Given the description of an element on the screen output the (x, y) to click on. 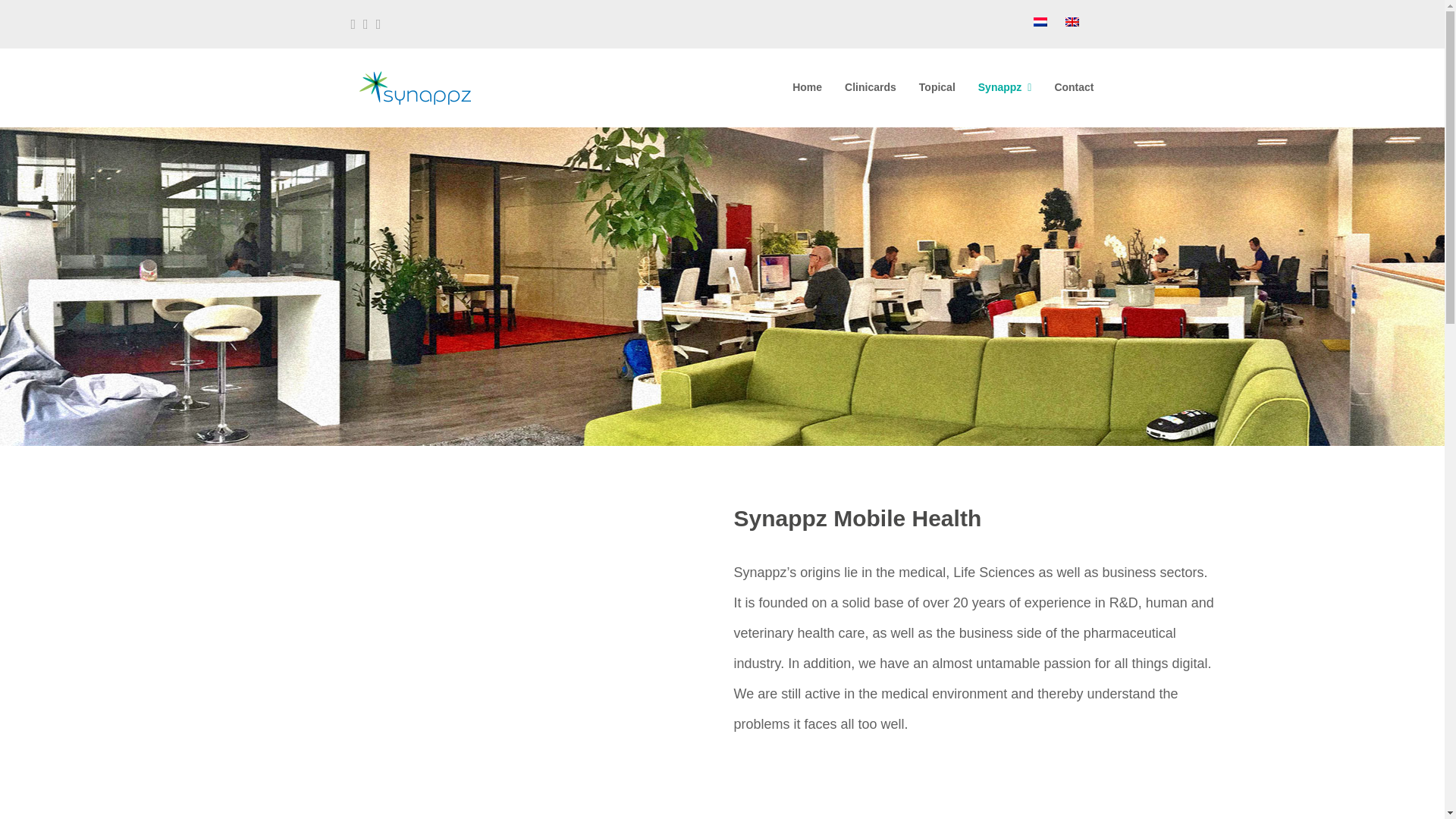
Clinicards (869, 87)
Home (806, 87)
LinkedIn (378, 23)
Topical (936, 87)
Synappz (1004, 87)
Facebook (352, 23)
LinkedIn (378, 23)
Twitter (365, 23)
Contact (1073, 87)
Facebook (352, 23)
Twitter (365, 23)
